Given the description of an element on the screen output the (x, y) to click on. 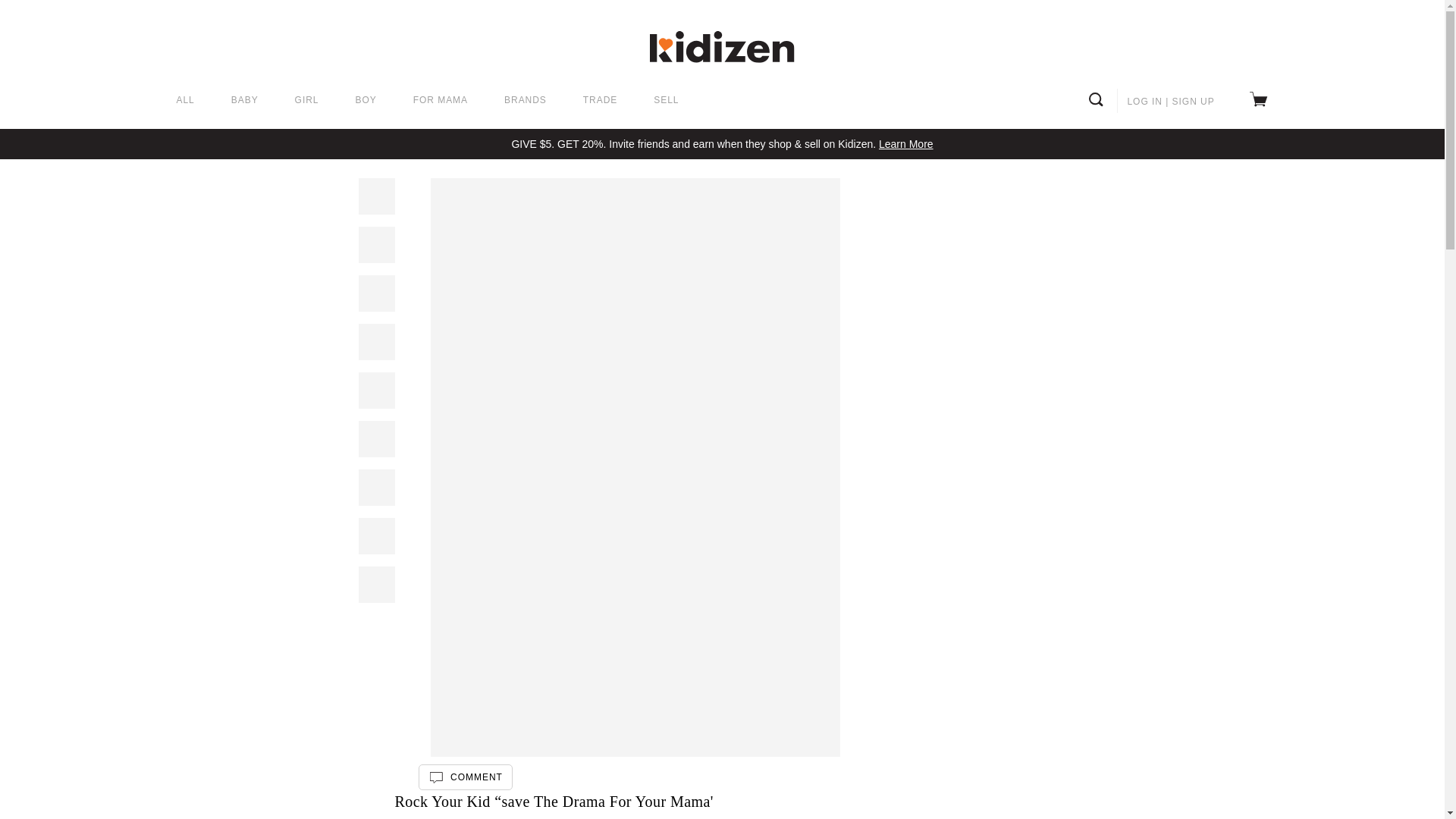
FOR MAMA (440, 100)
LOG IN (1143, 101)
ALL (184, 100)
SIGN UP (1193, 101)
BOY (365, 100)
TRADE (600, 100)
GIRL (306, 100)
COMMENT (465, 777)
BABY (245, 100)
BRANDS (525, 100)
